Given the description of an element on the screen output the (x, y) to click on. 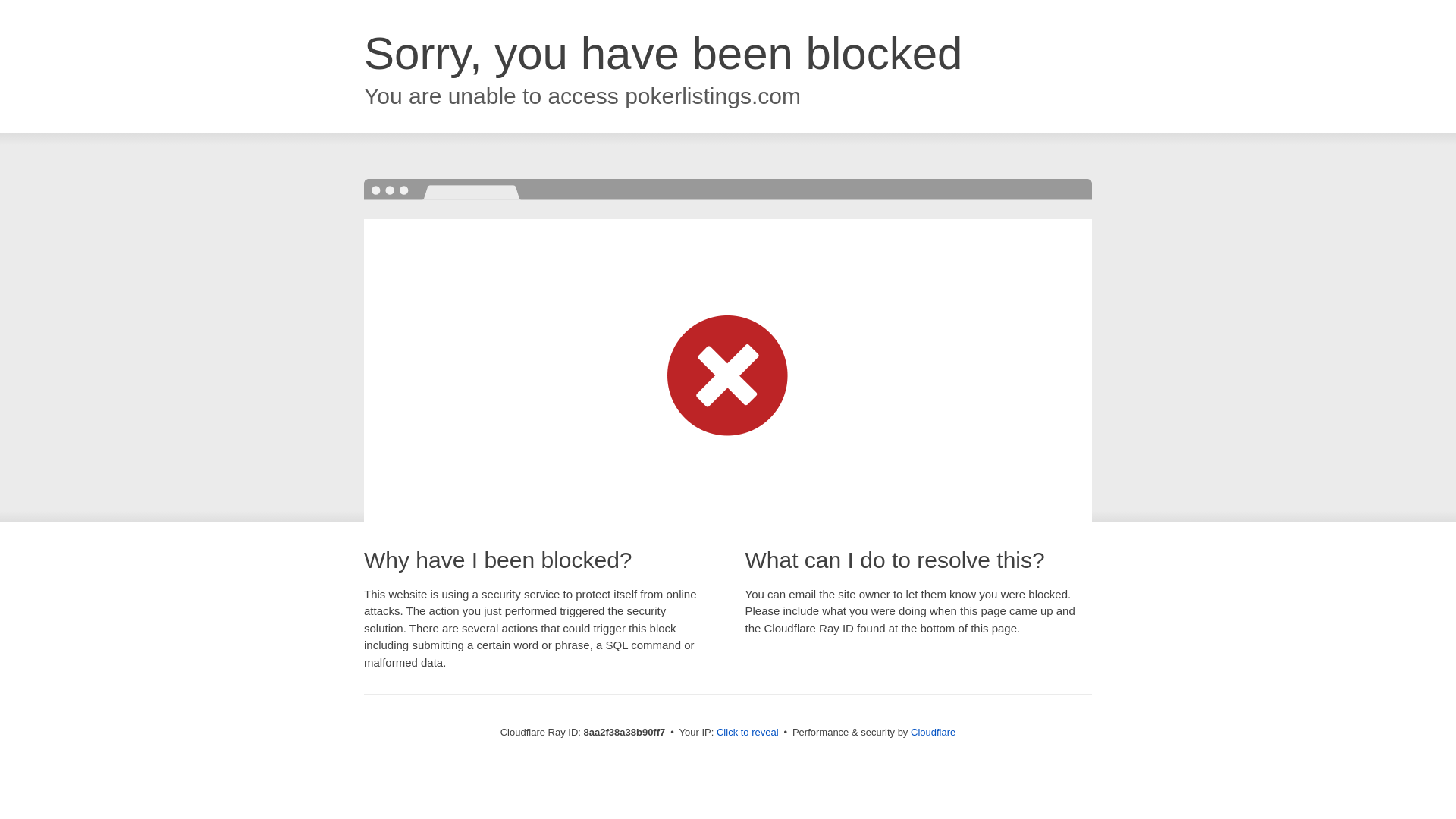
Cloudflare (933, 731)
Click to reveal (747, 732)
